Given the description of an element on the screen output the (x, y) to click on. 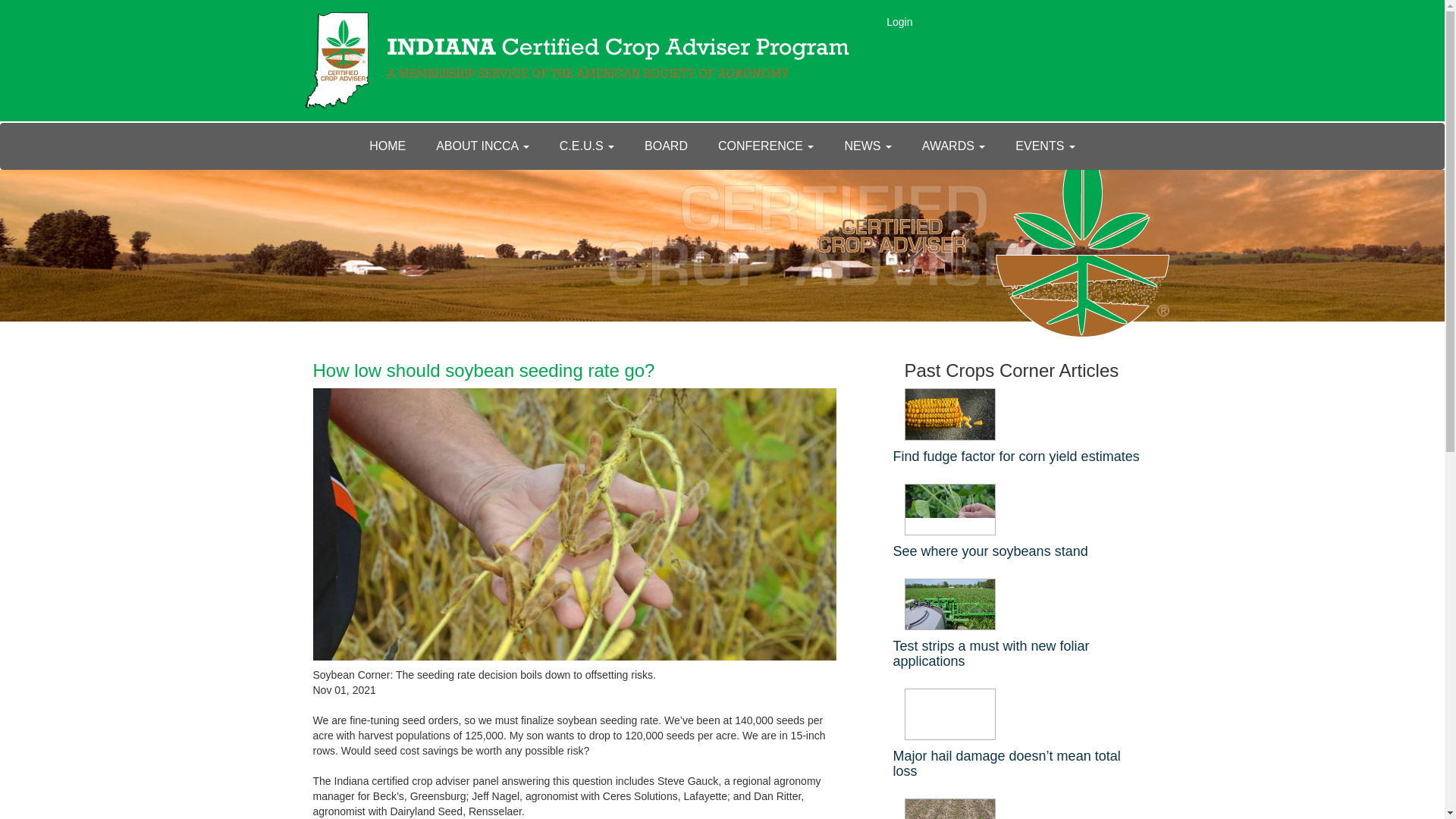
BOARD (665, 145)
CONFERENCE (765, 145)
EVENTS (1044, 145)
How low should soybean seeding rate go? (483, 370)
HOME (386, 145)
AWARDS (953, 145)
ABOUT INCCA (482, 145)
Login to my account (899, 21)
C.E.U.S (586, 145)
Login (899, 21)
